Given the description of an element on the screen output the (x, y) to click on. 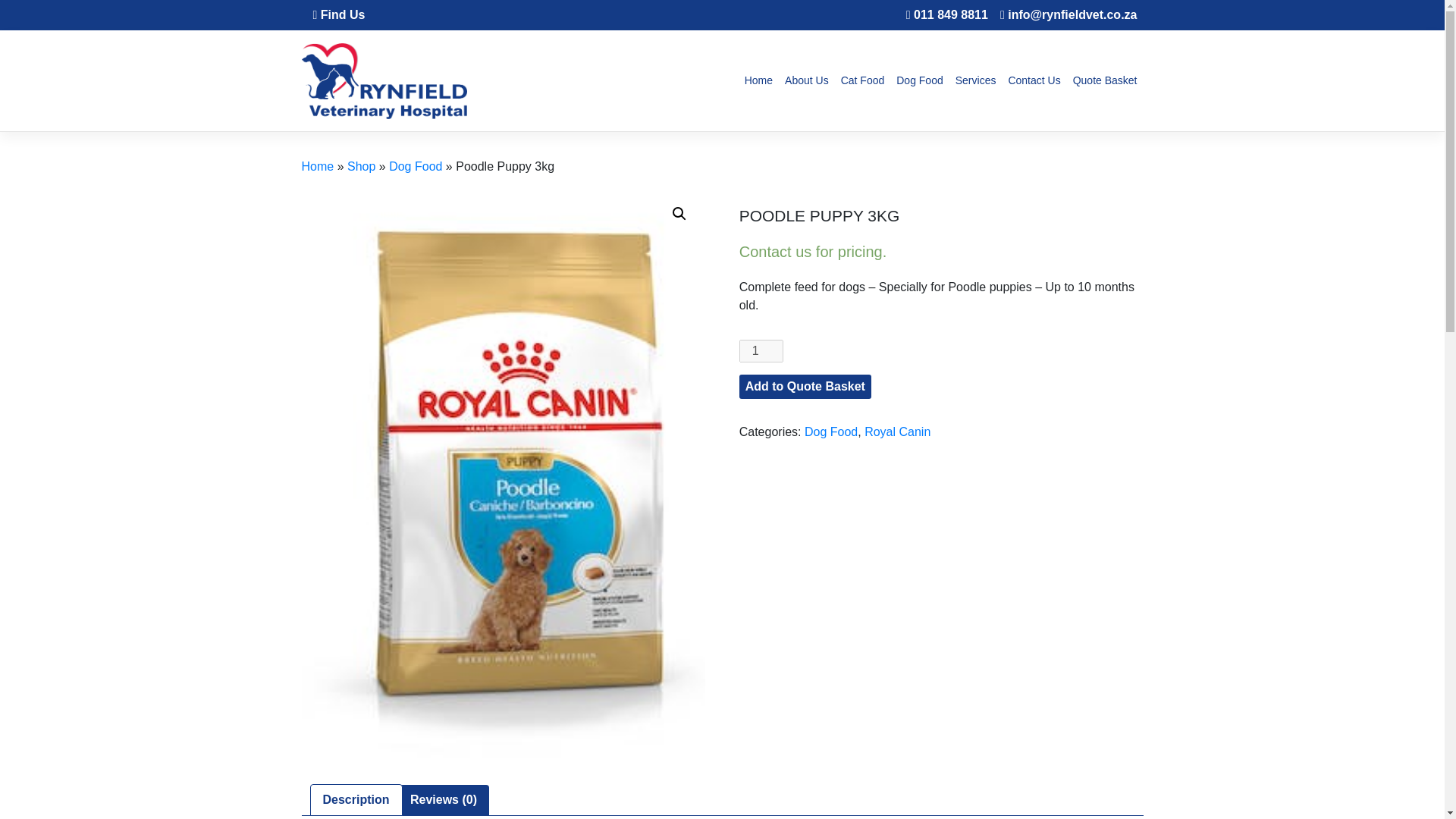
Contact Us (1033, 80)
1 (761, 350)
Description (356, 799)
Dog Food (919, 80)
Qty (761, 350)
011 849 8811 (951, 14)
Find Us (339, 14)
About Us (806, 80)
Services (976, 80)
Services (976, 80)
Home (758, 80)
Dog Food (919, 80)
Dog Food (831, 431)
About Us (806, 80)
Cat Food (862, 80)
